Given the description of an element on the screen output the (x, y) to click on. 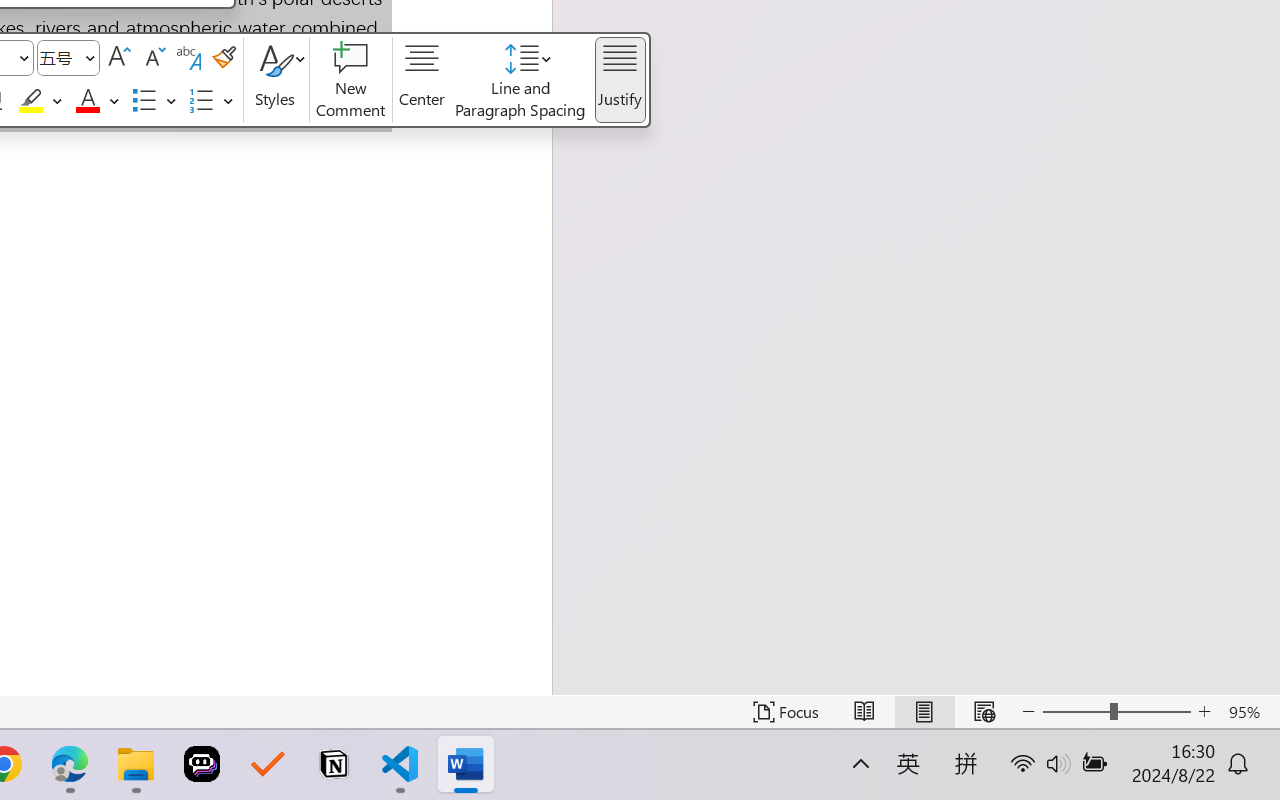
Format Painter (223, 58)
Font Color Red (87, 101)
Poe (201, 764)
Text Highlight Color (42, 101)
Class: NetUIAnchor (521, 79)
